Given the description of an element on the screen output the (x, y) to click on. 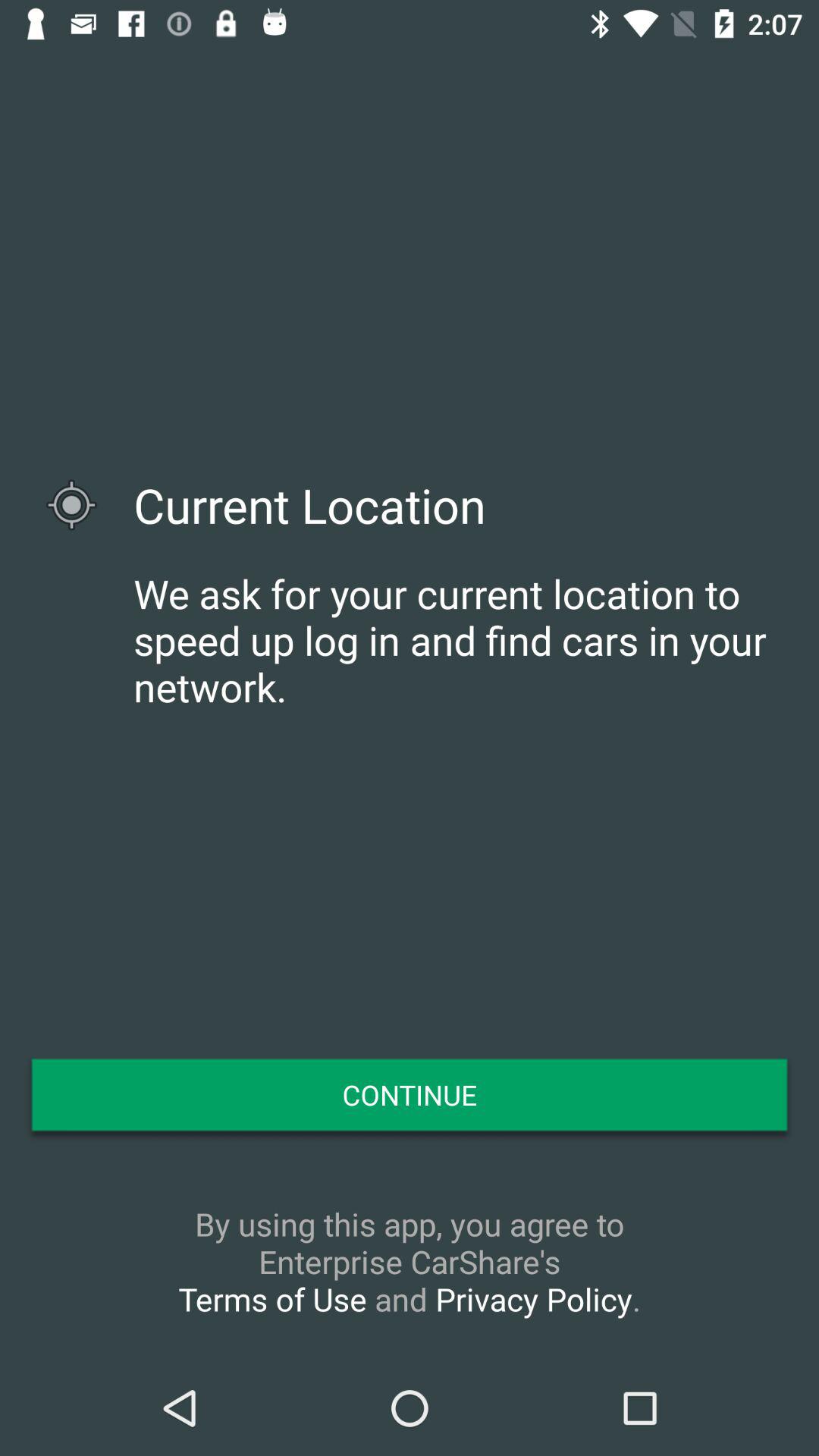
select the item above by using this (409, 1094)
